Given the description of an element on the screen output the (x, y) to click on. 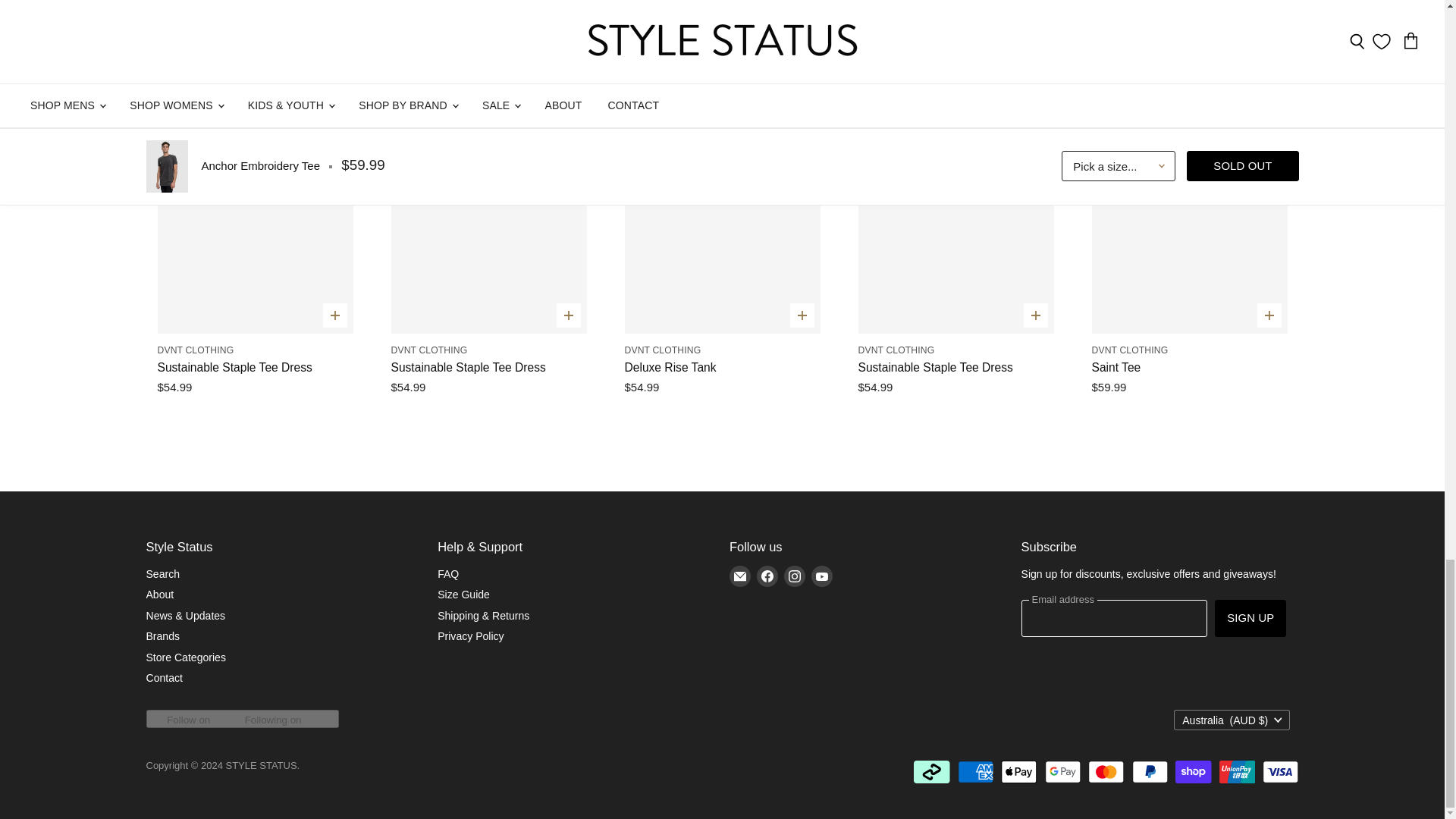
YouTube (821, 575)
Instagram (794, 575)
Facebook (767, 575)
E-mail (740, 575)
